Given the description of an element on the screen output the (x, y) to click on. 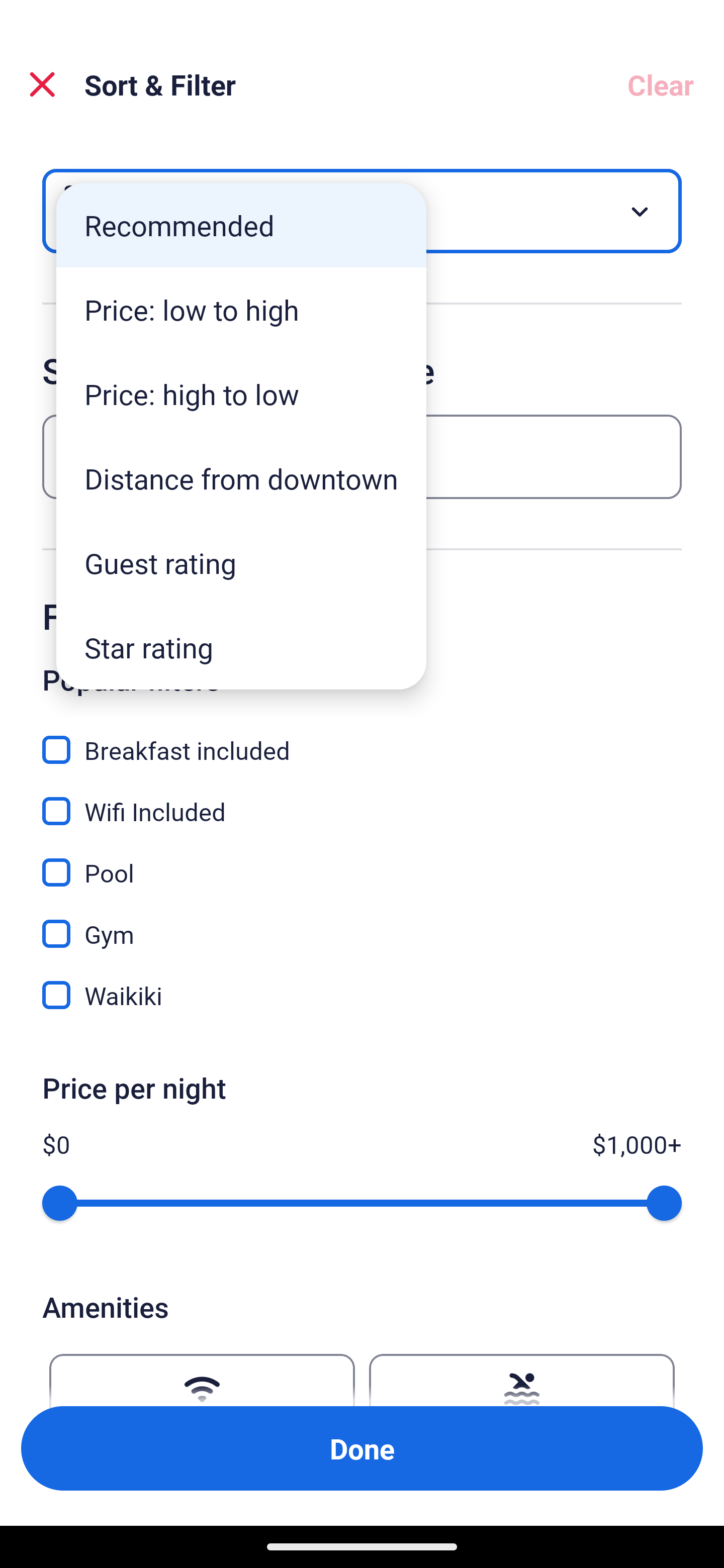
Price: low to high (241, 309)
Price: high to low (241, 393)
Distance from downtown (241, 477)
Guest rating (241, 562)
Star rating (241, 647)
